Given the description of an element on the screen output the (x, y) to click on. 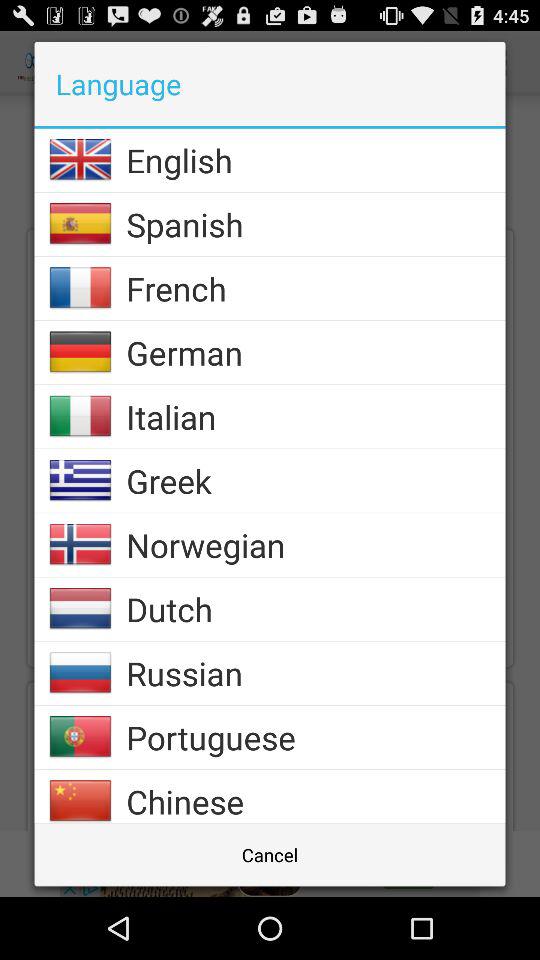
choose the norwegian item (315, 544)
